Given the description of an element on the screen output the (x, y) to click on. 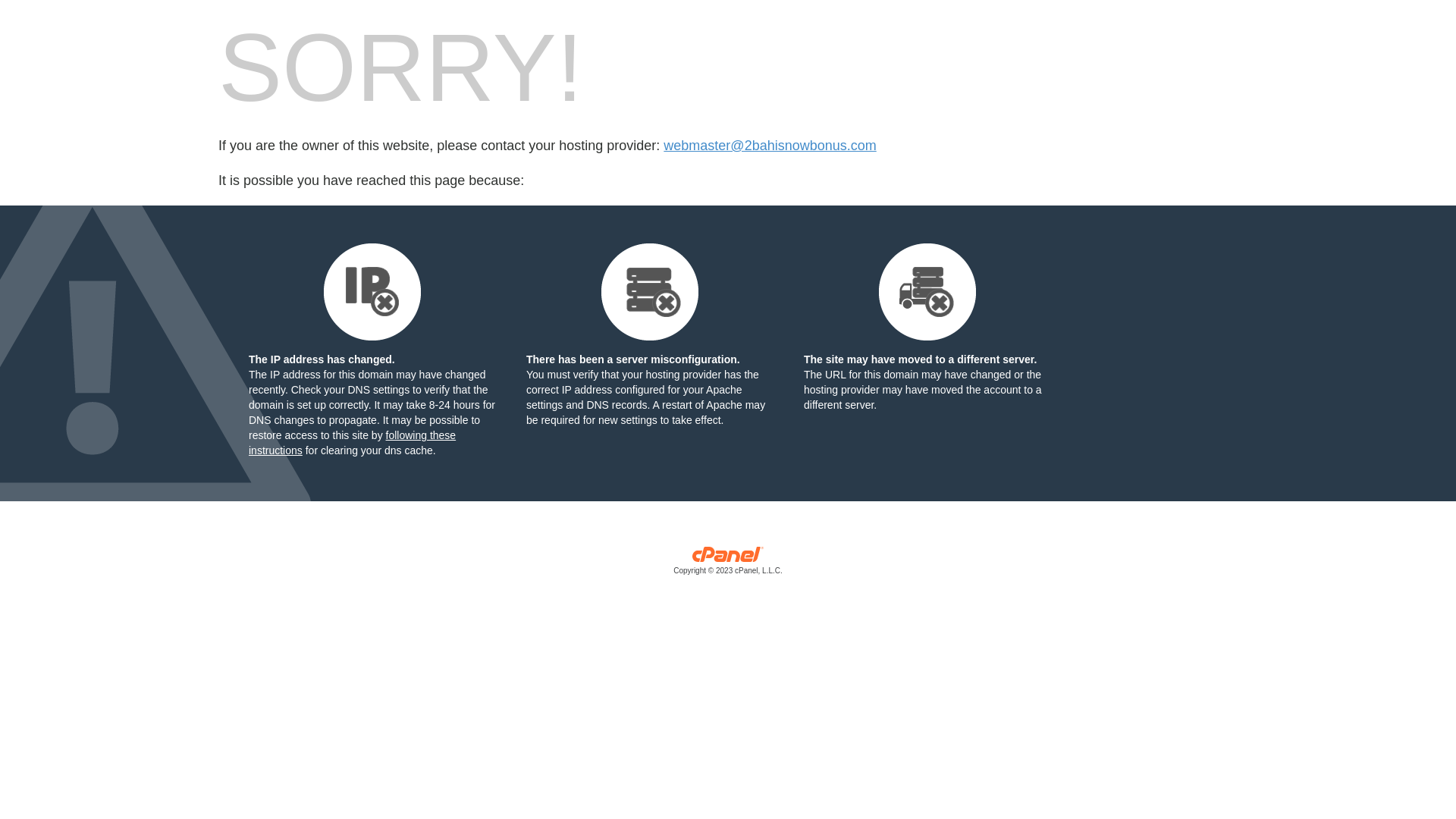
webmaster@2bahisnowbonus.com Element type: text (769, 145)
following these instructions Element type: text (351, 442)
